Given the description of an element on the screen output the (x, y) to click on. 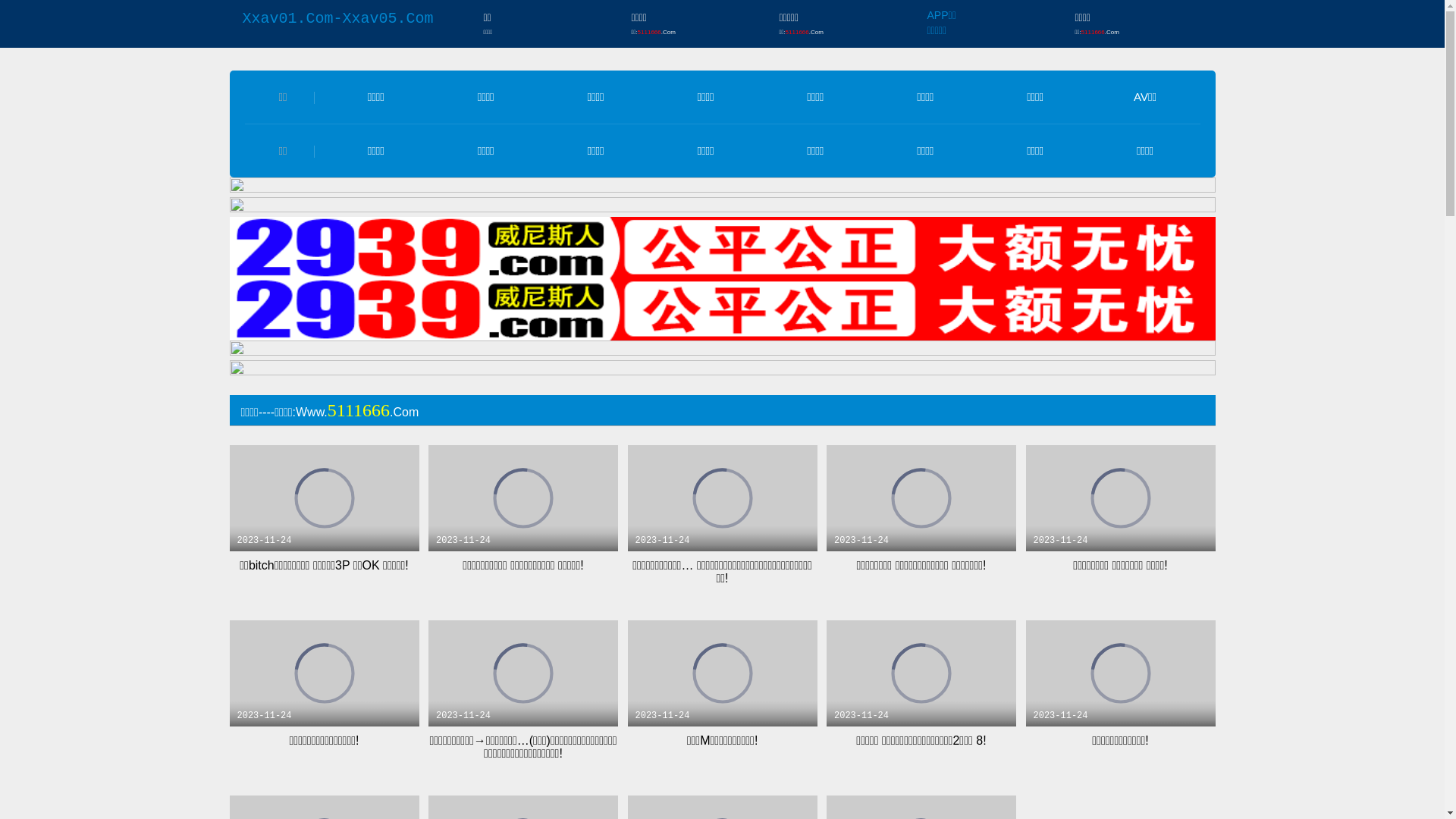
2023-11-24 Element type: text (323, 673)
2023-11-24 Element type: text (323, 497)
2023-11-24 Element type: text (523, 673)
2023-11-24 Element type: text (921, 497)
2023-11-24 Element type: text (523, 497)
2023-11-24 Element type: text (1119, 497)
2023-11-24 Element type: text (722, 497)
2023-11-24 Element type: text (722, 673)
2023-11-24 Element type: text (921, 673)
2023-11-24 Element type: text (1119, 673)
